Given the description of an element on the screen output the (x, y) to click on. 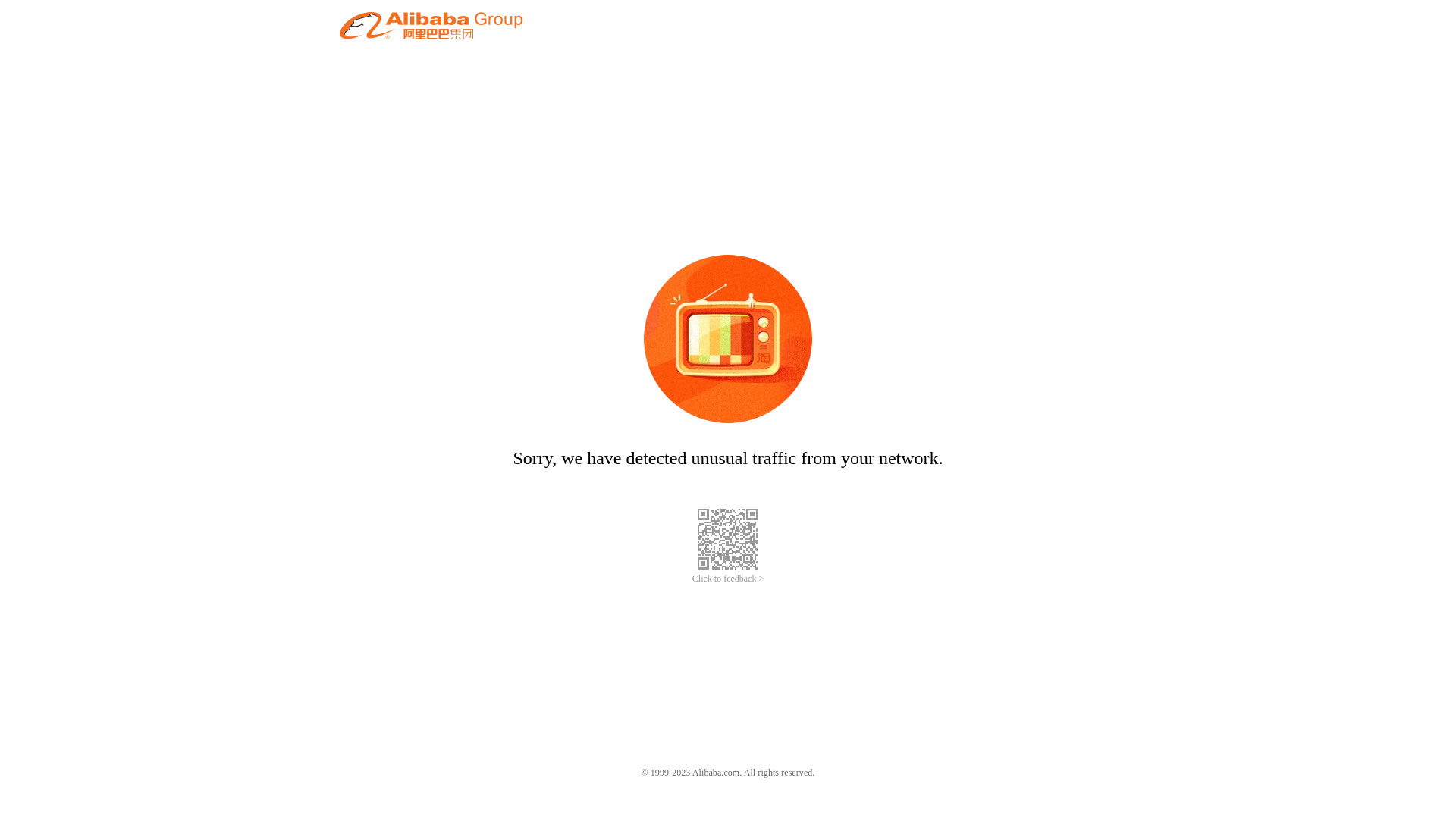
Click to feedback > Element type: text (727, 578)
